Given the description of an element on the screen output the (x, y) to click on. 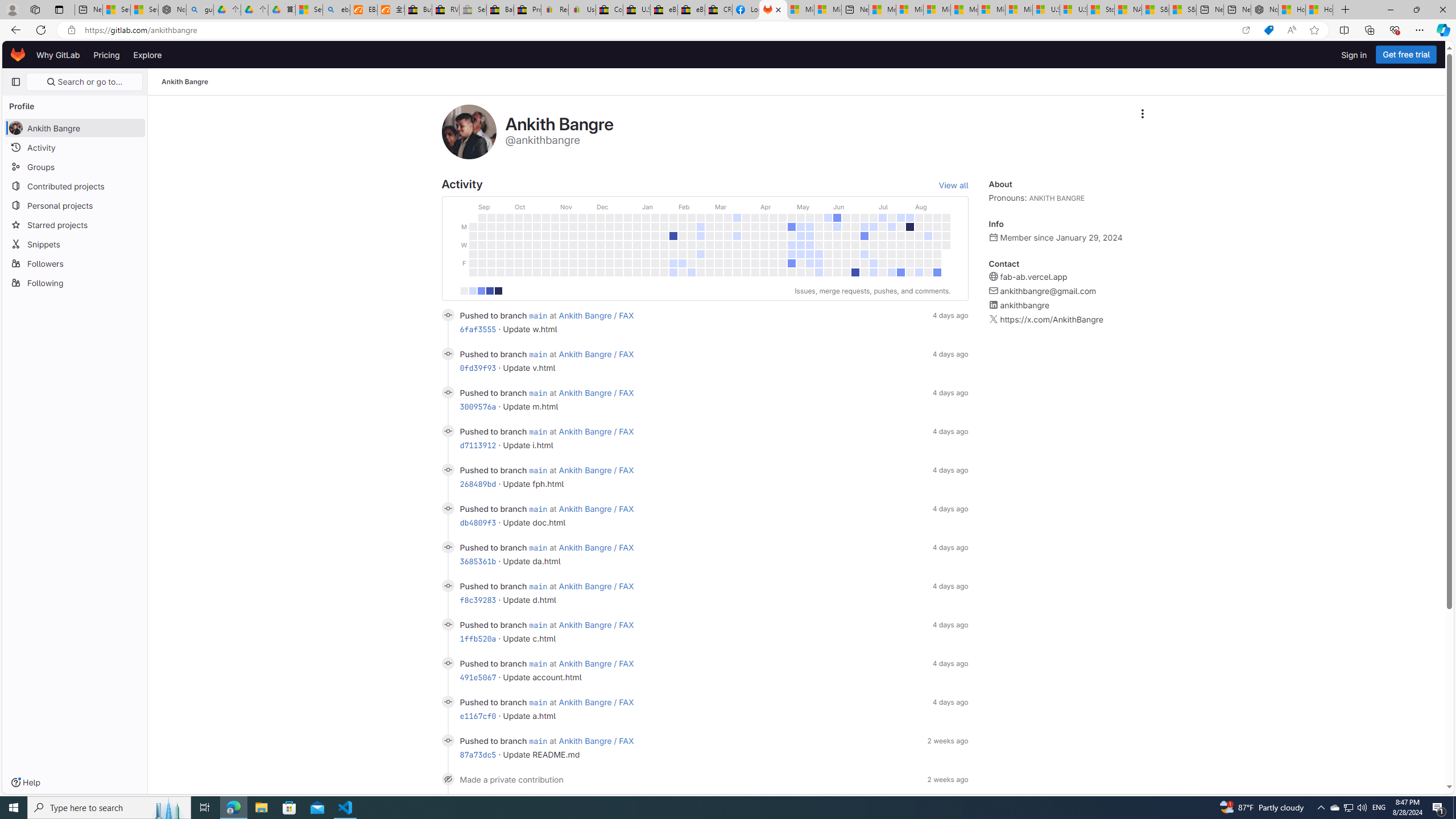
User profile picture (468, 131)
avatar Ankith Bangre (74, 127)
Class: s14 (448, 740)
